Given the description of an element on the screen output the (x, y) to click on. 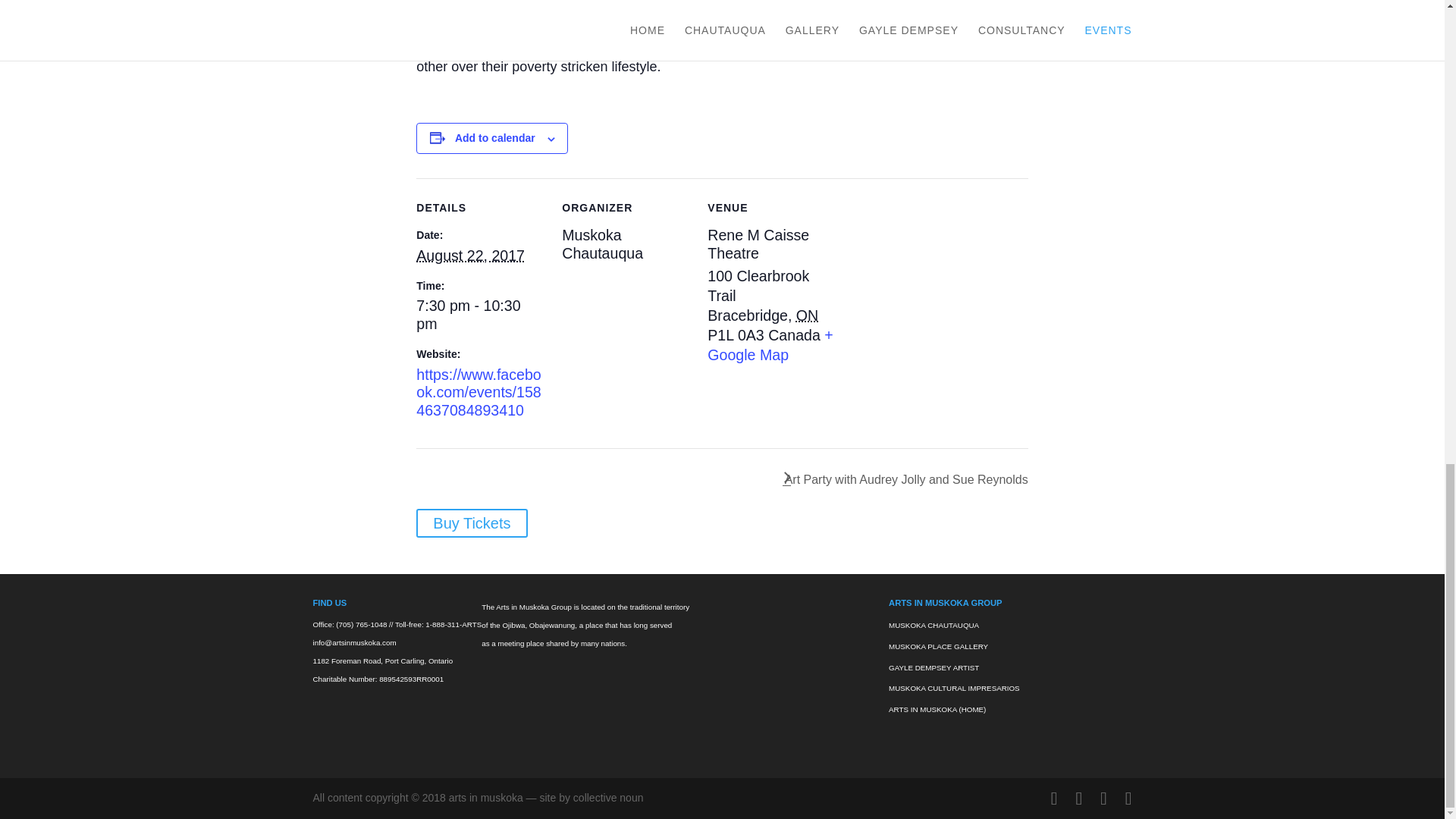
MUSKOKA PLACE GALLERY (938, 646)
2017-08-22 (479, 315)
GAYLE DEMPSEY ARTIST (933, 667)
Art Party with Audrey Jolly and Sue Reynolds (901, 479)
MUSKOKA CHAUTAUQUA (933, 624)
Click to view a Google Map (769, 344)
Buy Tickets (471, 522)
ON (807, 315)
MUSKOKA CULTURAL IMPRESARIOS (954, 687)
Add to calendar (494, 137)
